Given the description of an element on the screen output the (x, y) to click on. 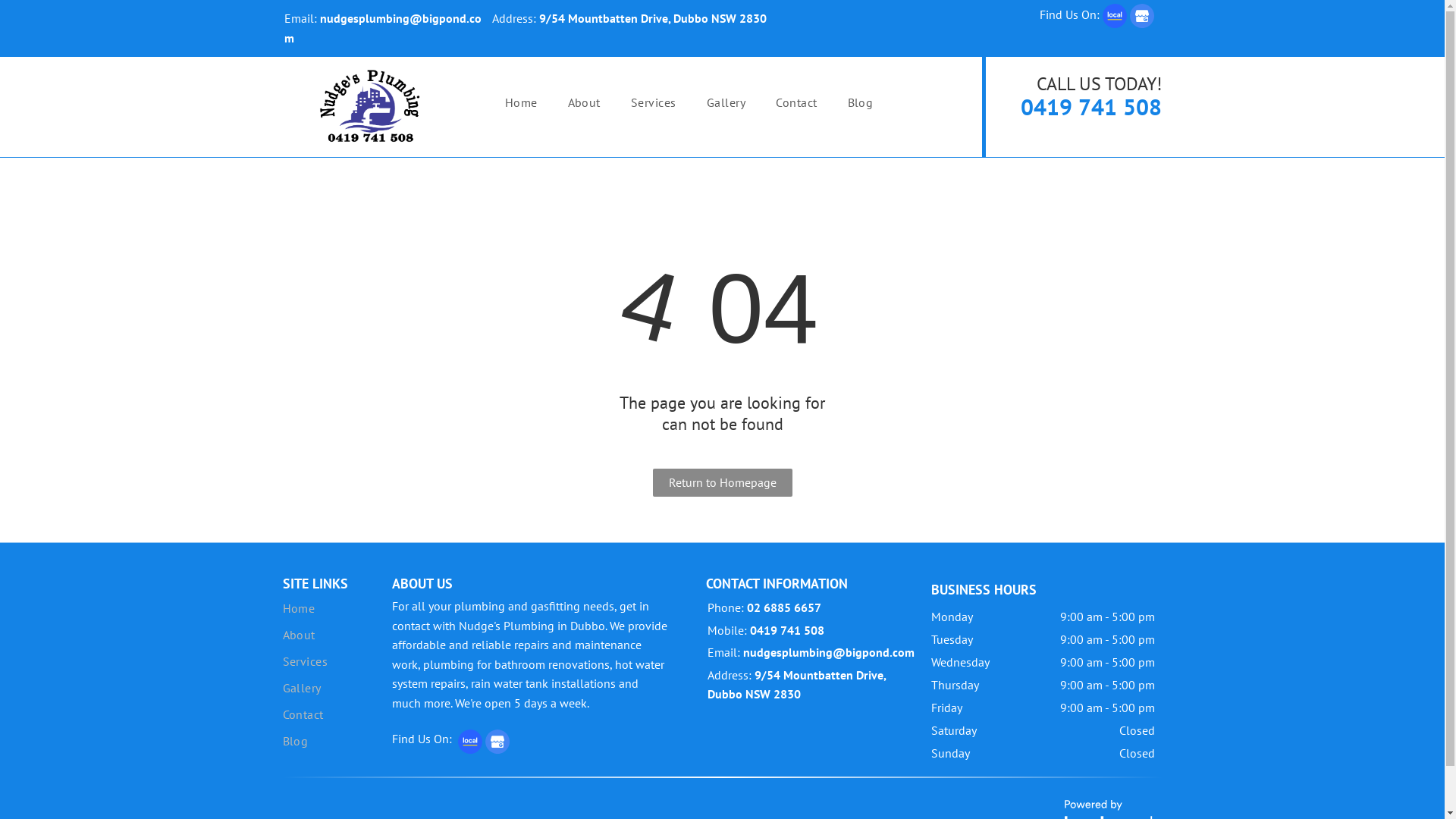
9/54 Mountbatten Drive, Dubbo NSW 2830 Element type: text (652, 17)
Services Element type: text (336, 661)
Contact Element type: text (795, 101)
Gallery Element type: text (725, 101)
Localsearch Element type: hover (470, 741)
Find Us On GMB Element type: hover (497, 741)
About Element type: text (583, 101)
Localsearch Business Profile Element type: hover (1114, 15)
Contact Element type: text (336, 714)
Services Element type: text (653, 101)
Find Us On GMB Element type: hover (1141, 15)
0419 741 508 Element type: text (786, 629)
Blog Element type: text (860, 101)
9/54 Mountbatten Drive, Dubbo NSW 2830 Element type: text (796, 684)
0419 741 508 Element type: text (1090, 106)
Return to Homepage Element type: text (721, 482)
02 6885 6657 Element type: text (783, 607)
About Element type: text (336, 634)
Gallery Element type: text (336, 687)
Blog Element type: text (336, 741)
nudgesplumbing@bigpond.com Element type: text (381, 27)
Home Element type: text (336, 608)
nudgesplumbing@bigpond.com Element type: text (828, 651)
Home Element type: text (520, 101)
Nudges Plumbing Element type: hover (373, 106)
